Given the description of an element on the screen output the (x, y) to click on. 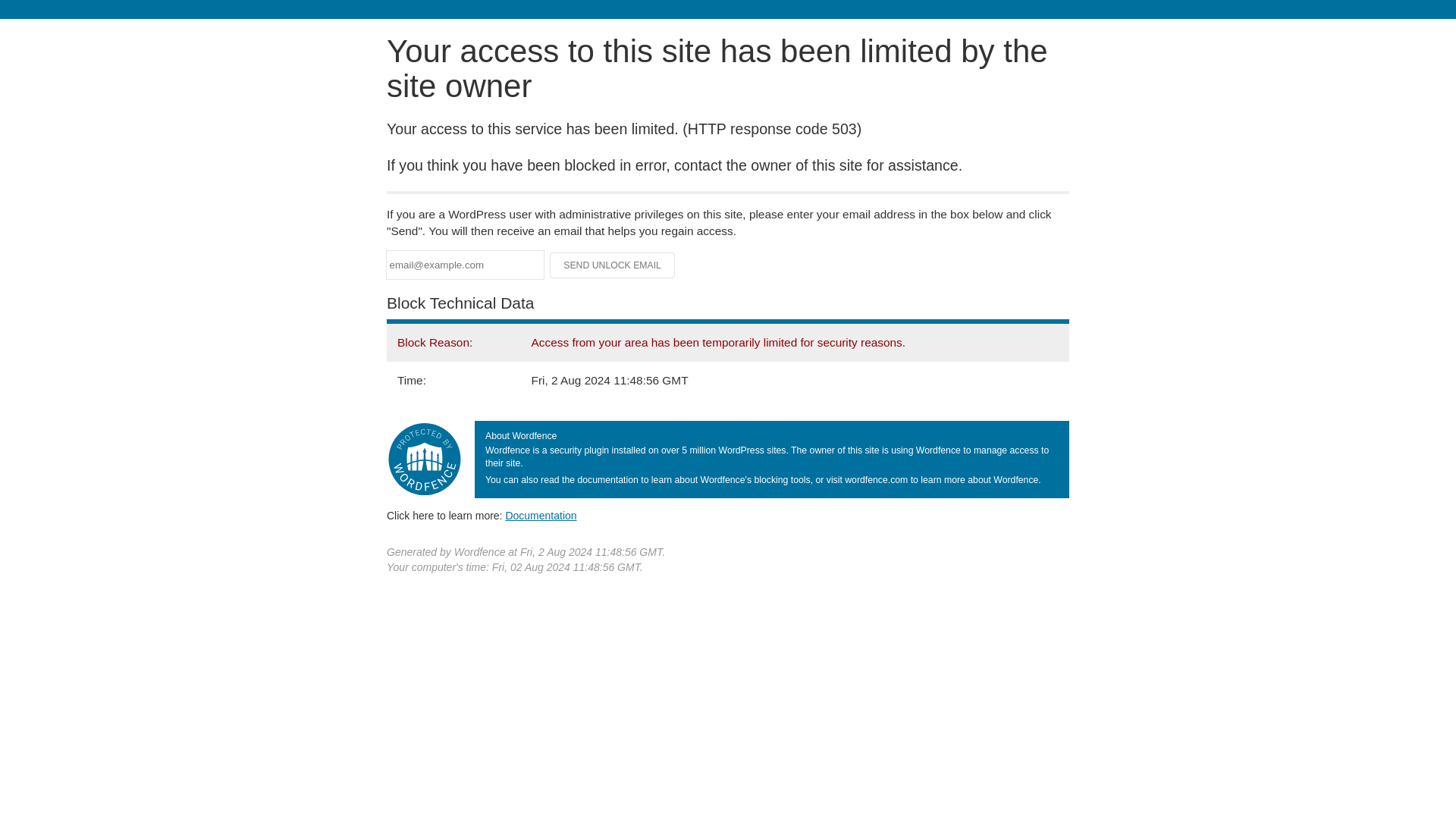
Send Unlock Email (612, 265)
Send Unlock Email (612, 265)
Documentation (540, 515)
